Given the description of an element on the screen output the (x, y) to click on. 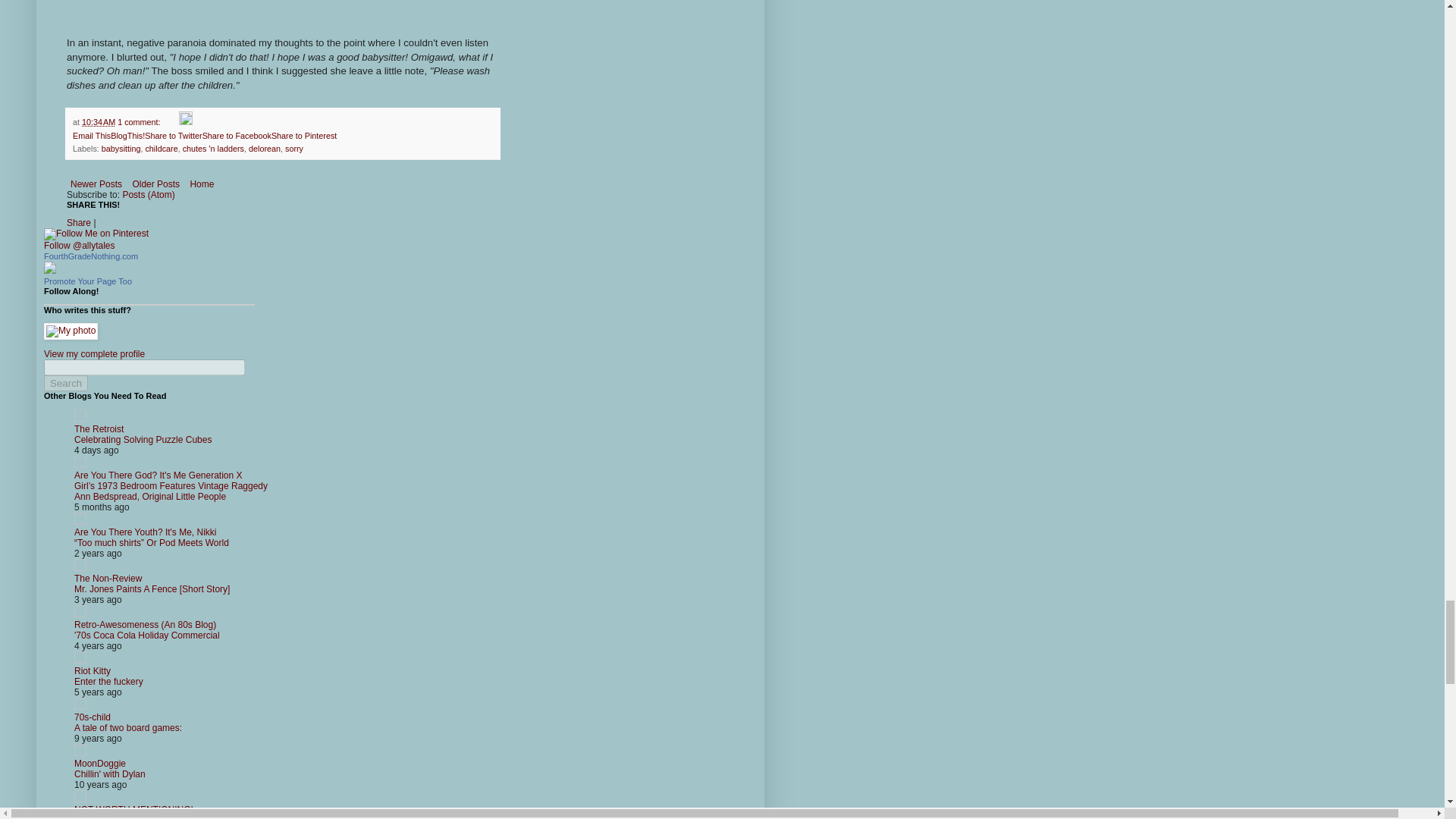
Search (65, 383)
